Given the description of an element on the screen output the (x, y) to click on. 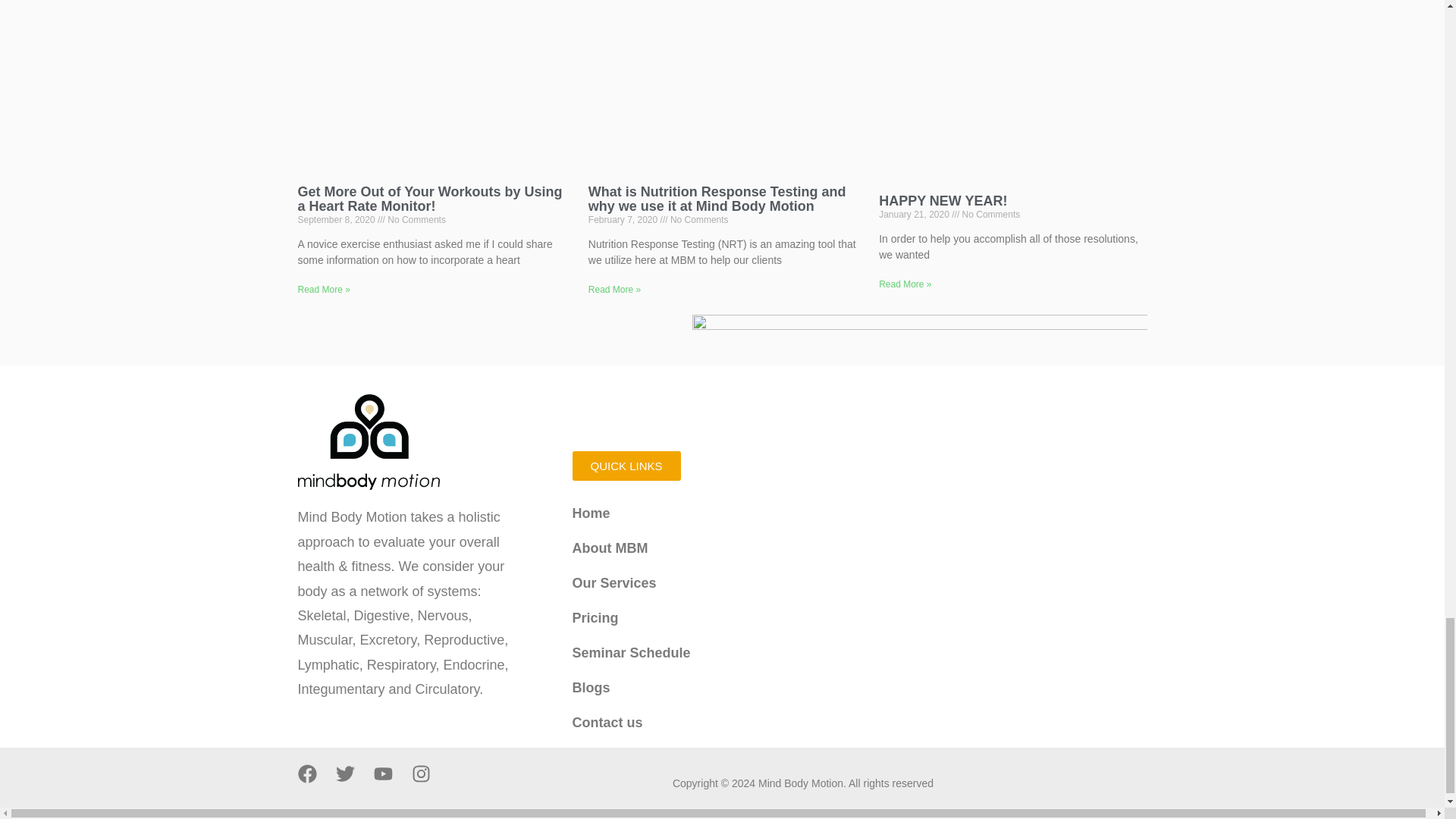
HAPPY NEW YEAR! (943, 200)
Get More Out of Your Workouts by Using a Heart Rate Monitor! (429, 199)
